Given the description of an element on the screen output the (x, y) to click on. 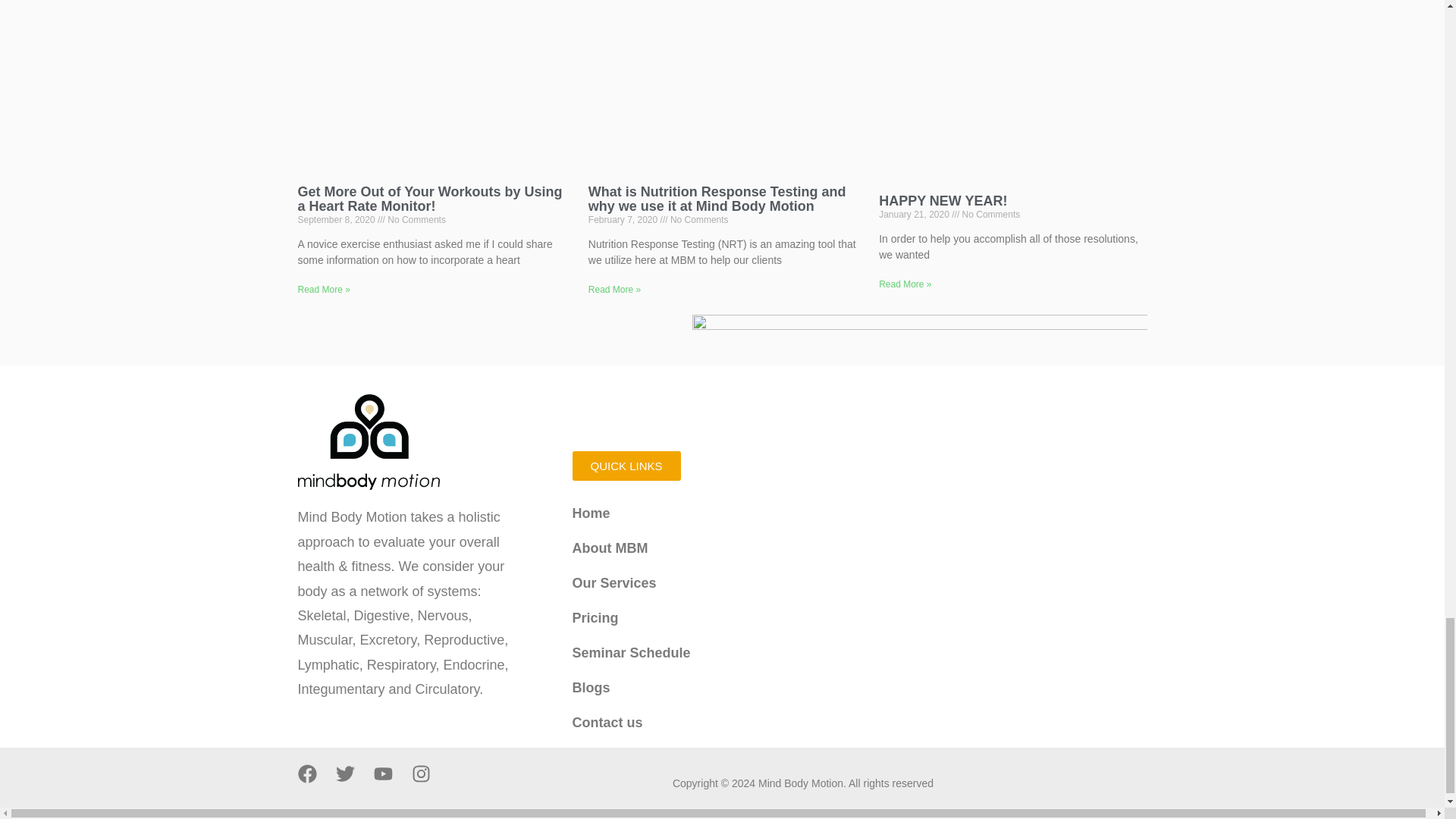
HAPPY NEW YEAR! (943, 200)
Get More Out of Your Workouts by Using a Heart Rate Monitor! (429, 199)
